Given the description of an element on the screen output the (x, y) to click on. 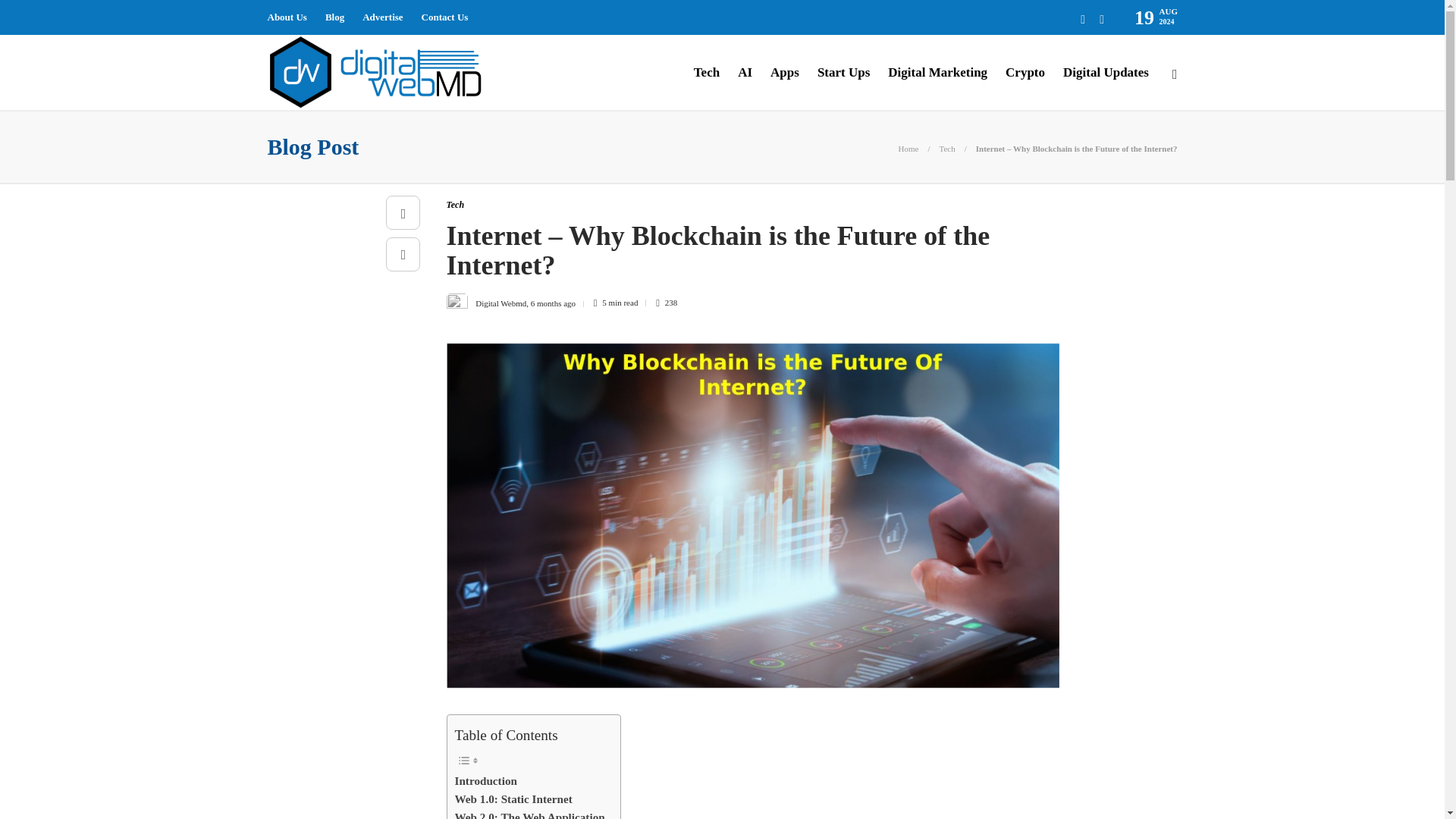
Digital Marketing (937, 72)
Digital Updates (1105, 72)
About Us (285, 17)
Web 1.0: Static Internet (513, 799)
Contact Us (445, 17)
Introduction (485, 781)
Home (908, 148)
Tech (454, 204)
Web 2.0: The Web Application (529, 813)
Home (908, 148)
